Given the description of an element on the screen output the (x, y) to click on. 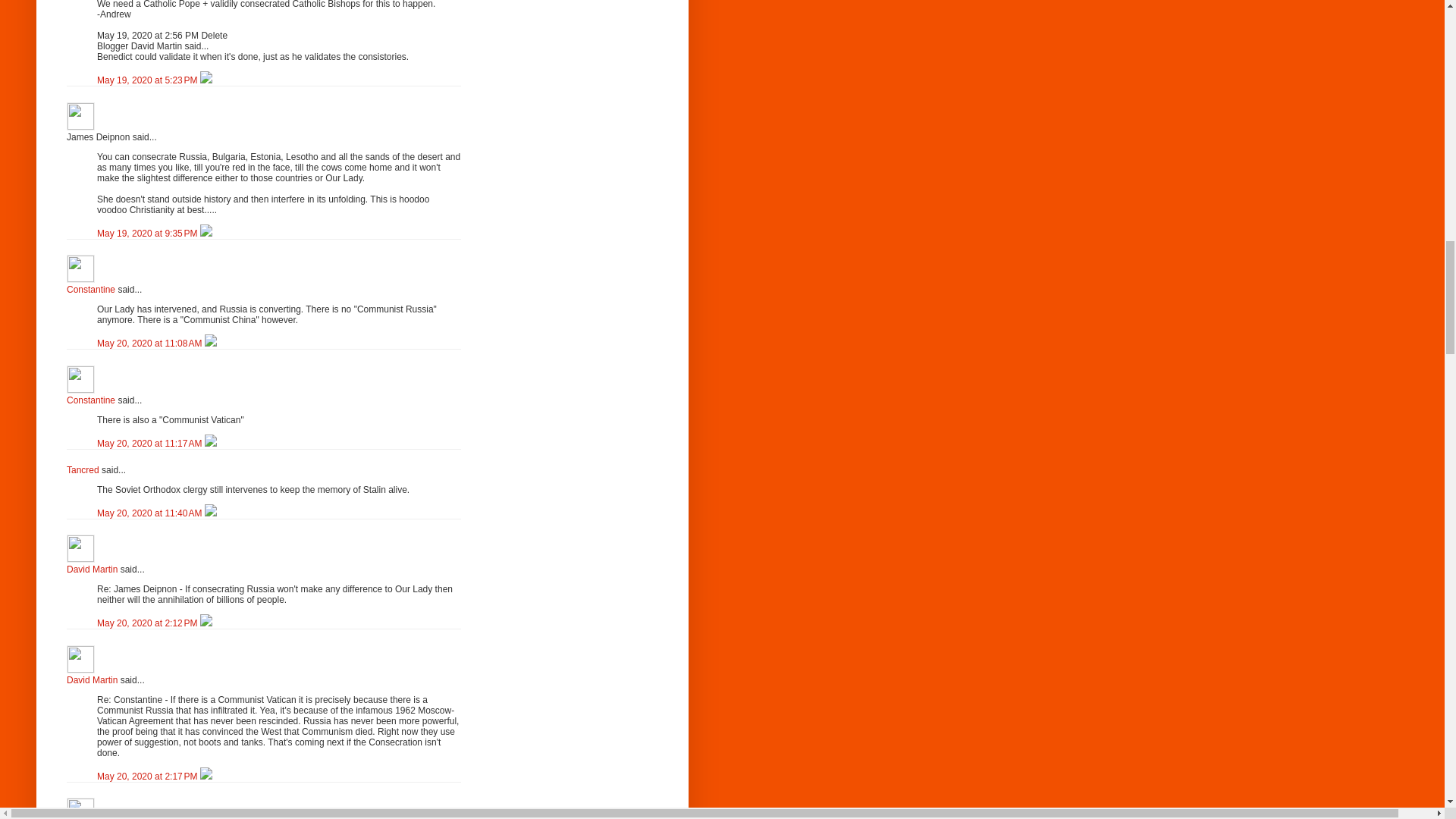
Delete Comment (206, 80)
James Deipnon (80, 116)
comment permalink (148, 233)
Tancred (82, 470)
Constantine (90, 289)
comment permalink (148, 80)
Constantine (90, 399)
Delete Comment (206, 233)
David Martin (91, 569)
